Given the description of an element on the screen output the (x, y) to click on. 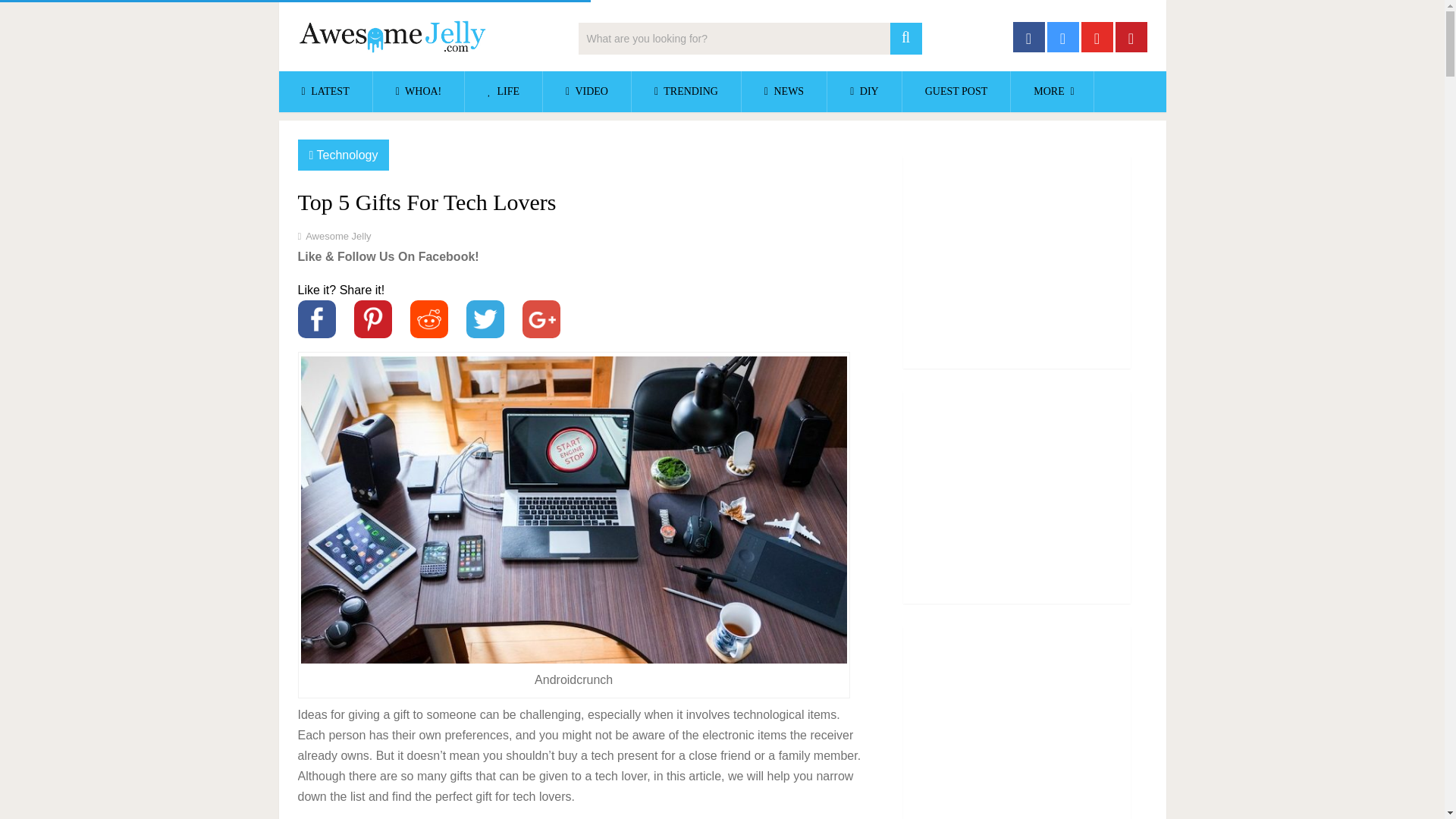
VIDEO (586, 91)
Facebook (315, 319)
WHOA! (418, 91)
MORE (1051, 91)
Awesome Jelly (338, 235)
Posts by Awesome Jelly (338, 235)
Twitter (484, 319)
NEWS (784, 91)
TRENDING (686, 91)
LIFE (502, 91)
